Given the description of an element on the screen output the (x, y) to click on. 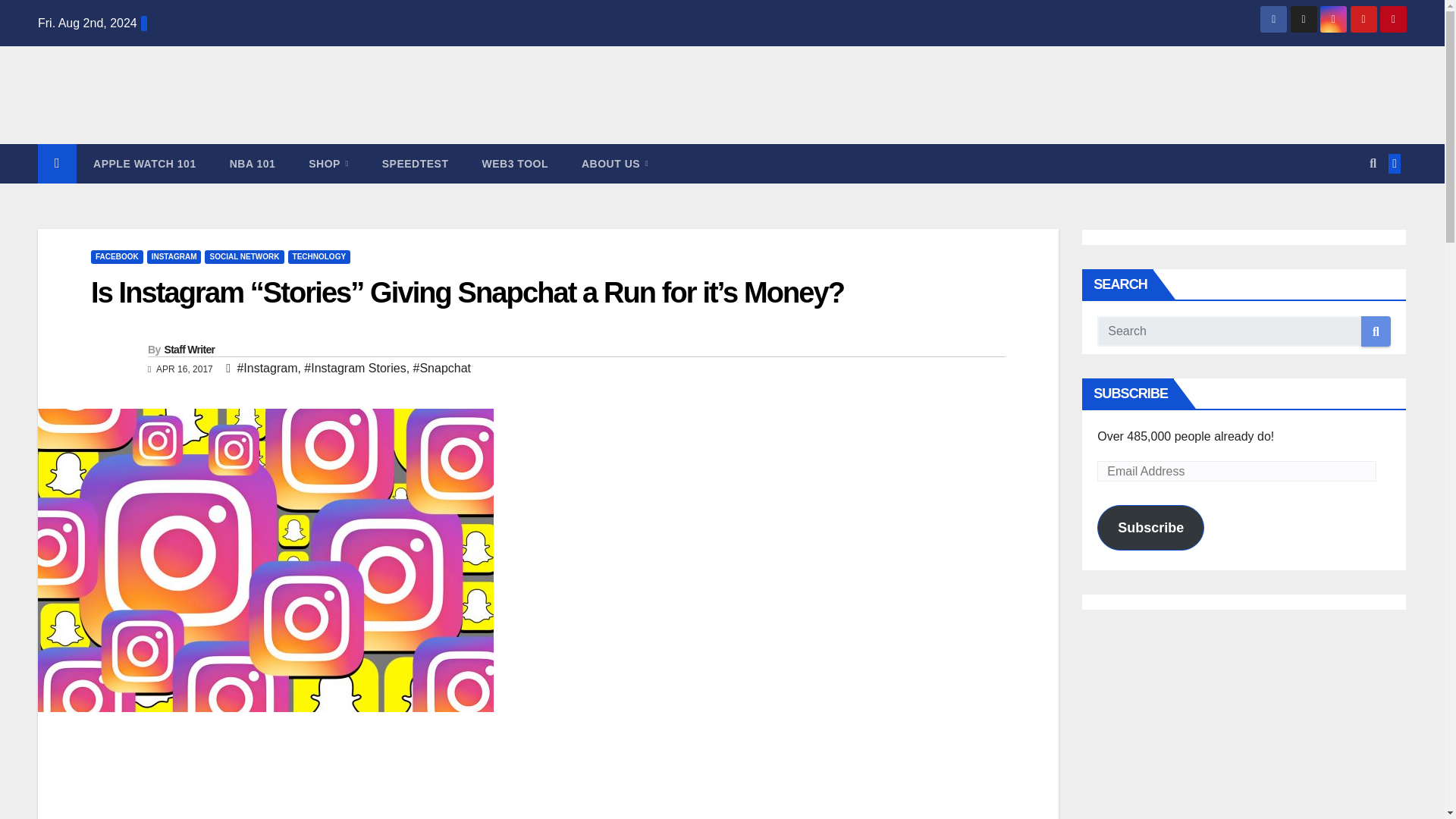
NBA 101 (252, 163)
APPLE WATCH 101 (144, 163)
FACEBOOK (116, 256)
SPEEDTEST (415, 163)
SHOP (328, 163)
INSTAGRAM (174, 256)
Apple Watch 101 (144, 163)
Web3 Tool (514, 163)
WEB3 TOOL (514, 163)
ABOUT US (614, 163)
